Given the description of an element on the screen output the (x, y) to click on. 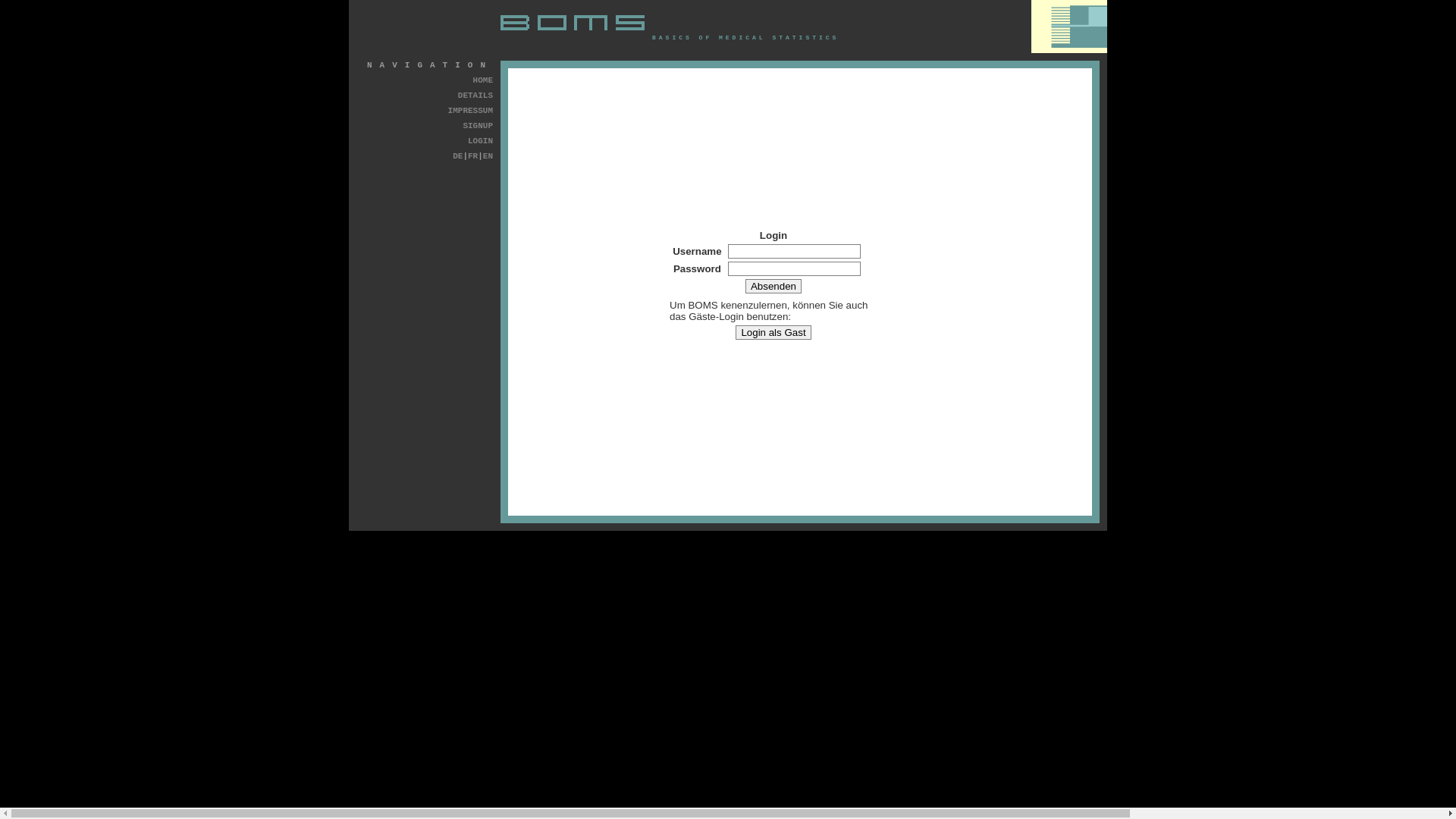
LOGIN Element type: text (479, 140)
IMPRESSUM Element type: text (470, 110)
FR Element type: text (472, 155)
DETAILS Element type: text (475, 95)
EN Element type: text (487, 155)
Login als Gast Element type: text (772, 332)
SIGNUP Element type: text (477, 125)
HOME Element type: text (482, 79)
DE Element type: text (457, 155)
Absenden Element type: text (773, 286)
